Given the description of an element on the screen output the (x, y) to click on. 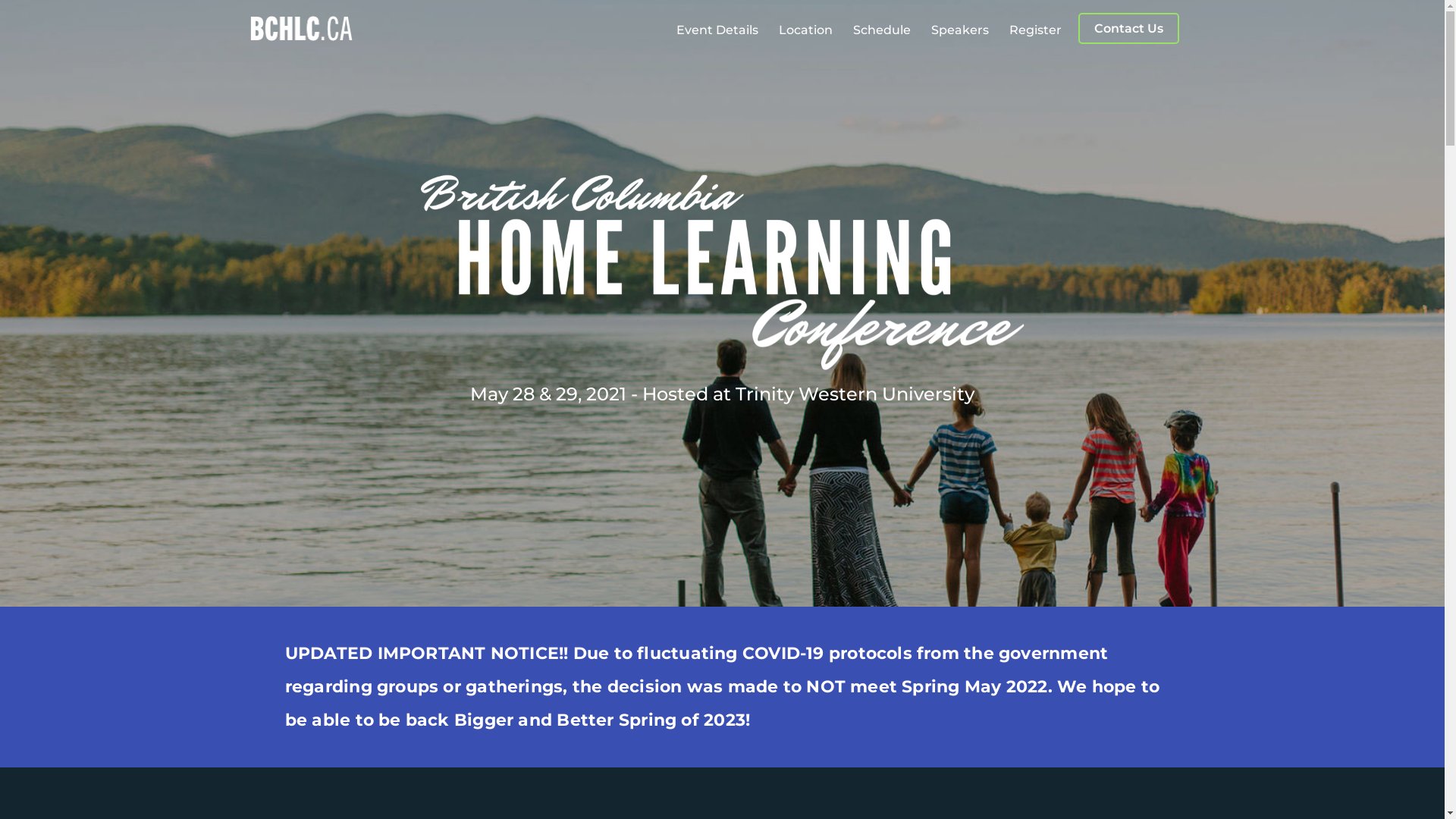
Speakers Element type: text (966, 29)
Schedule Element type: text (888, 29)
Contact Us Element type: text (1128, 27)
Event Details Element type: text (723, 29)
Location Element type: text (811, 29)
Register Element type: text (1041, 29)
